Given the description of an element on the screen output the (x, y) to click on. 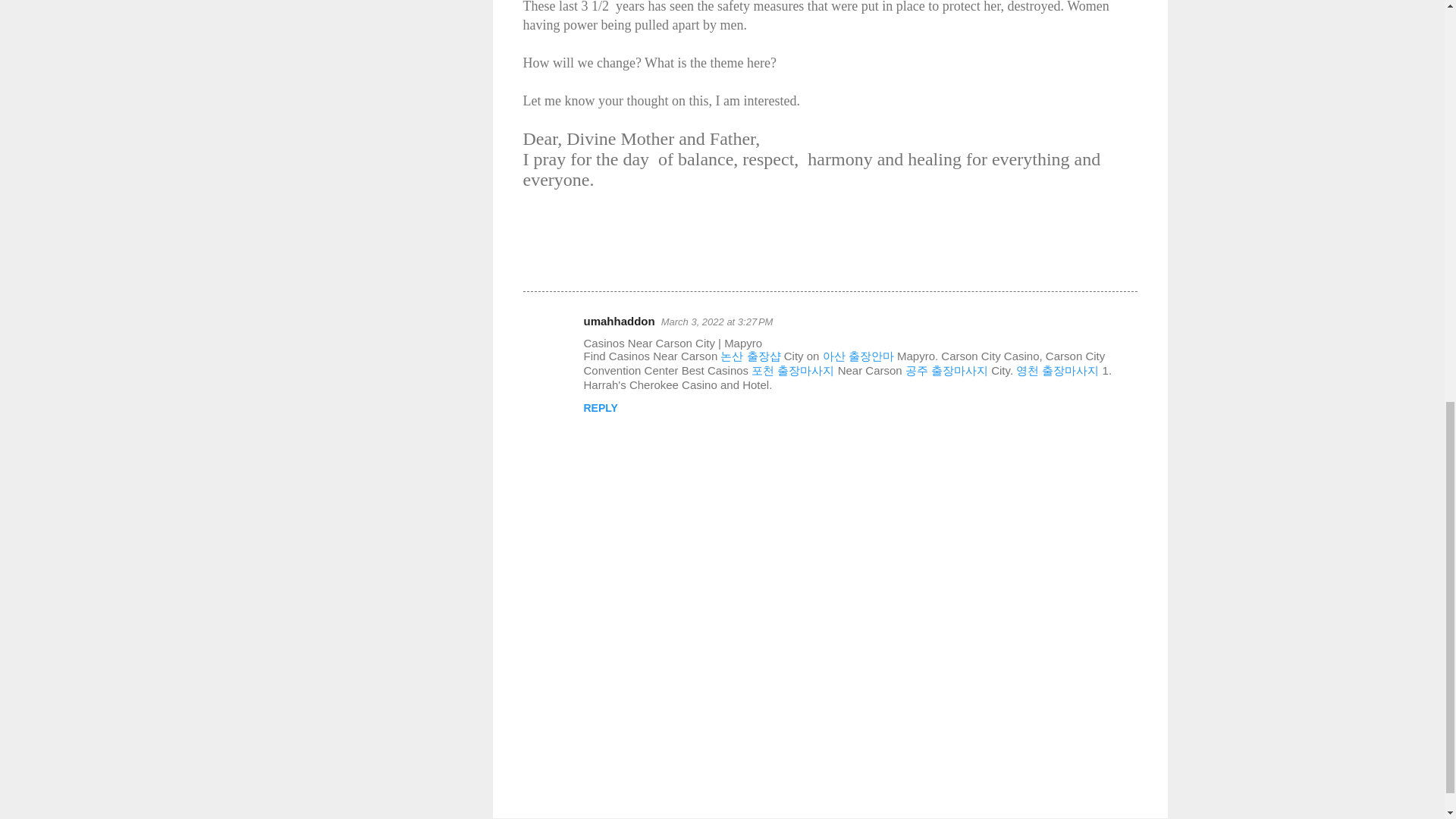
REPLY (600, 408)
umahhaddon (619, 320)
